Given the description of an element on the screen output the (x, y) to click on. 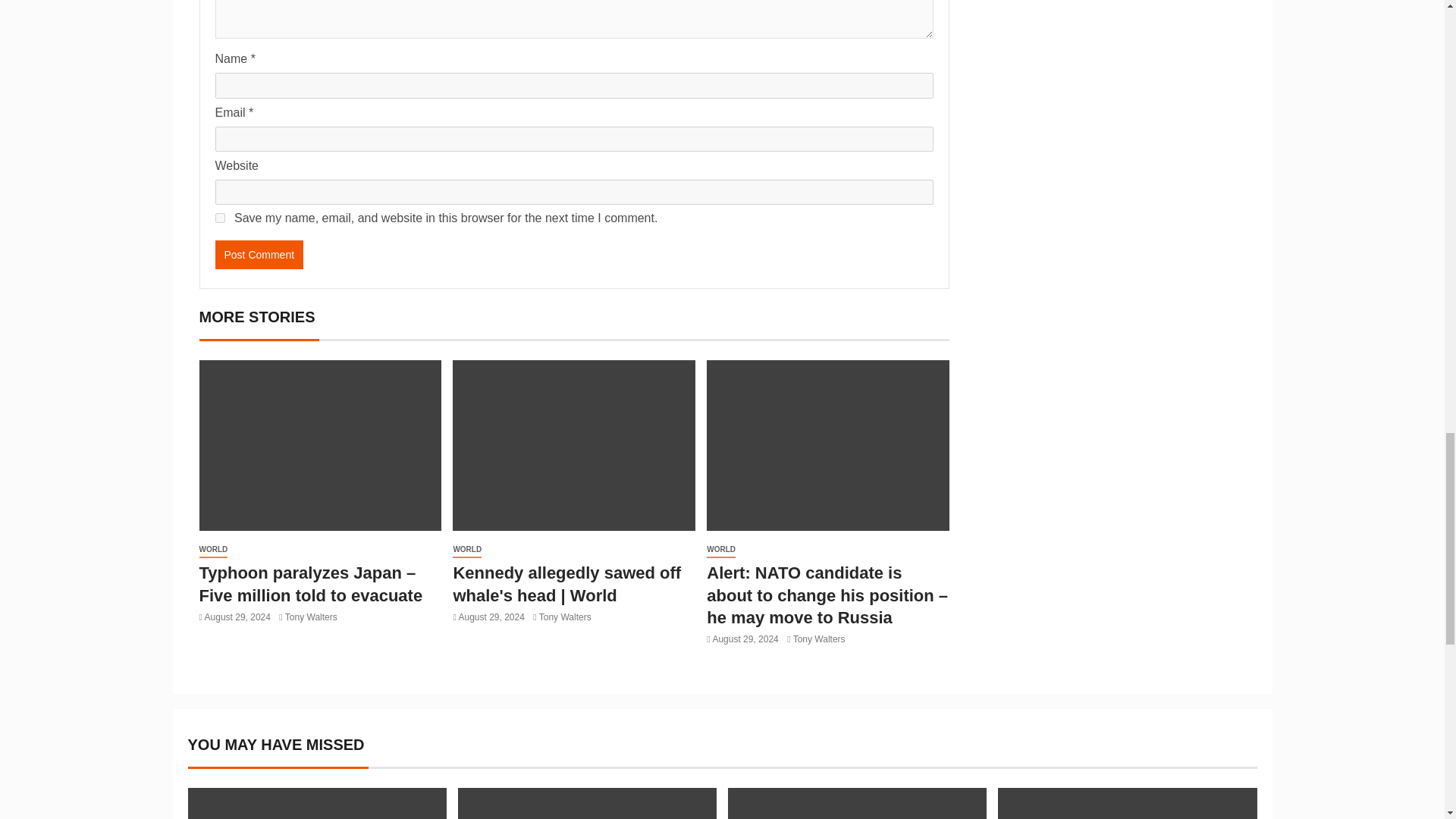
WORLD (212, 549)
Post Comment (259, 254)
Post Comment (259, 254)
yes (220, 217)
